Given the description of an element on the screen output the (x, y) to click on. 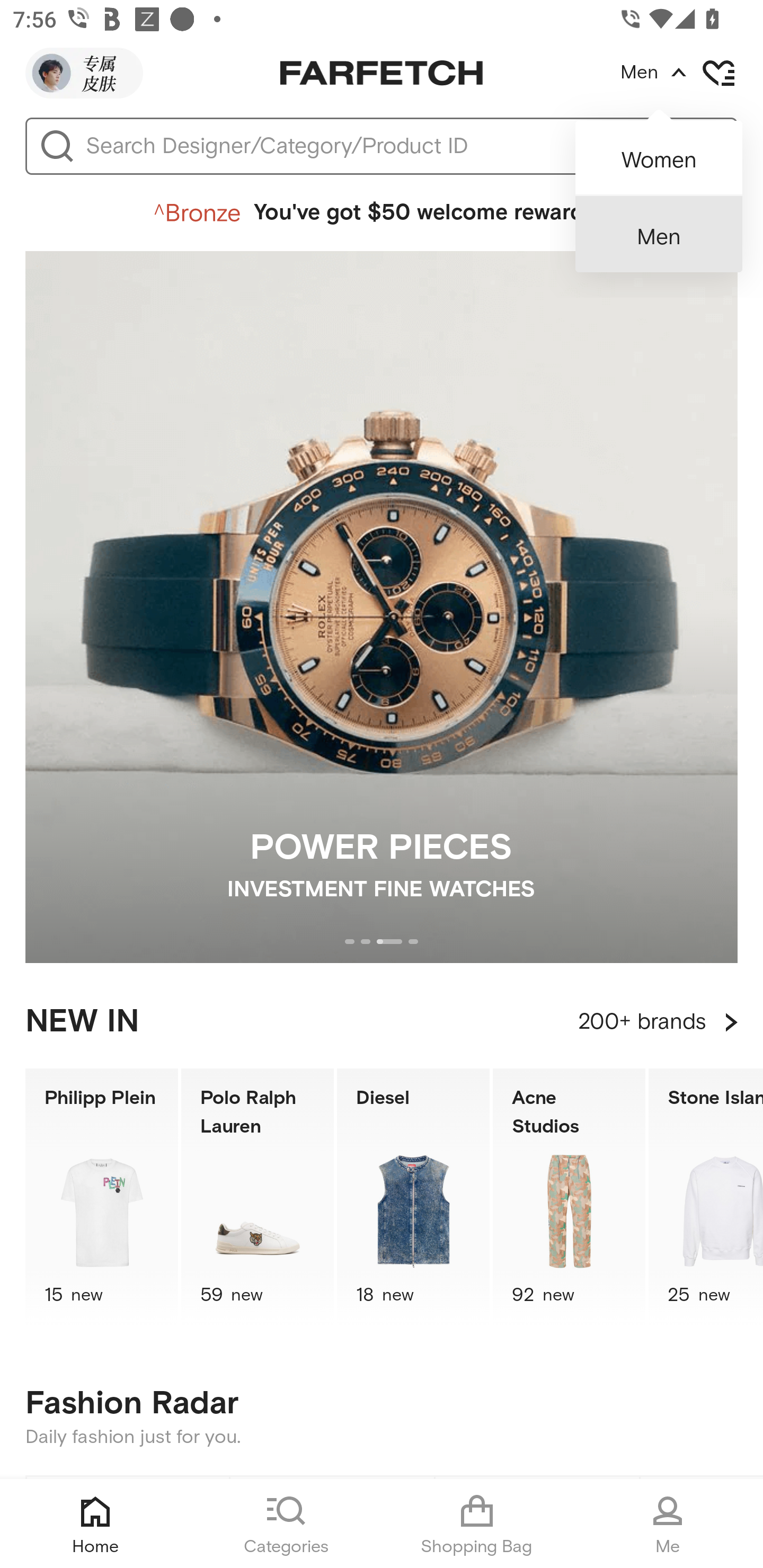
Women (658, 151)
Men (658, 234)
